Given the description of an element on the screen output the (x, y) to click on. 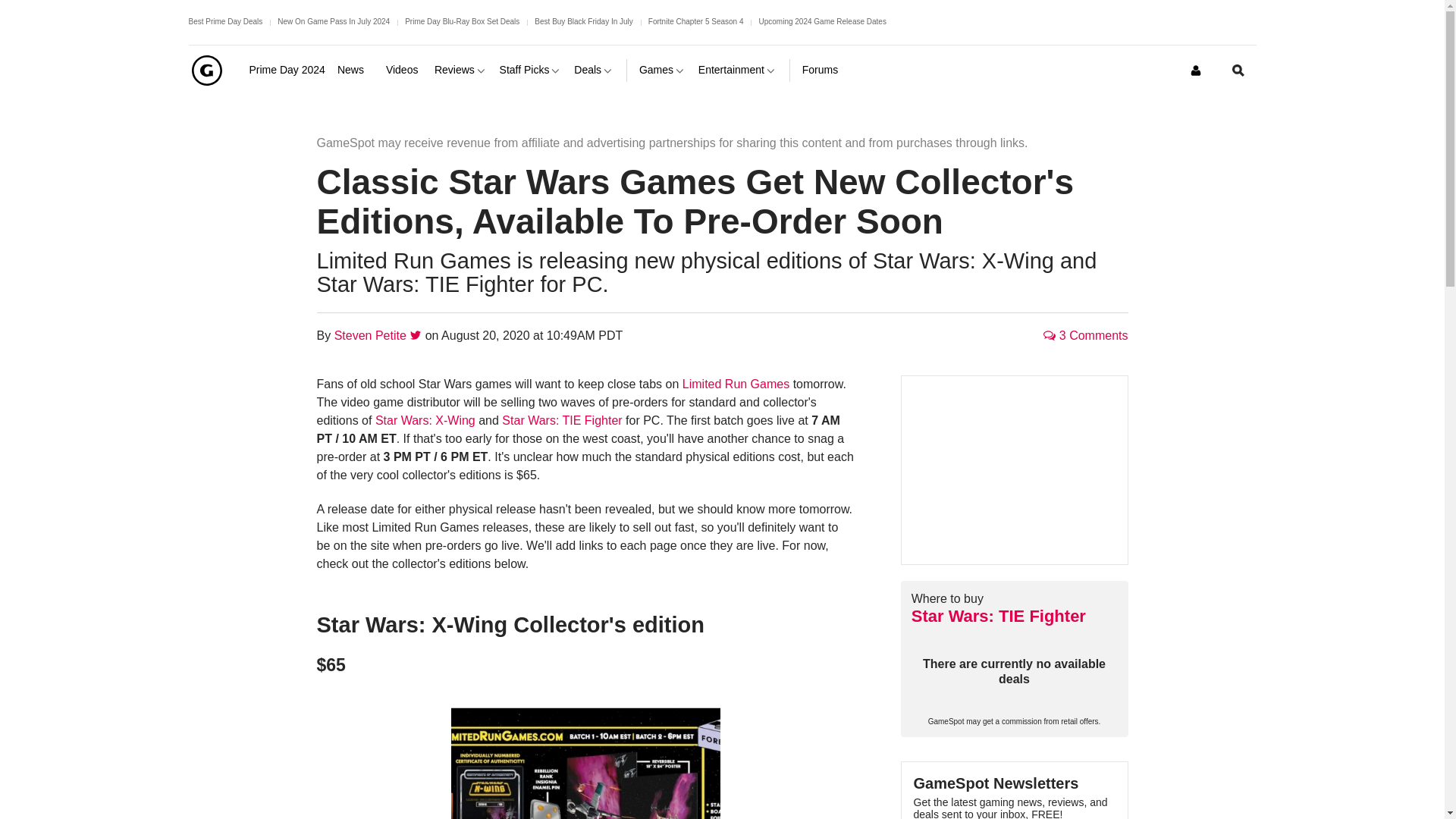
Videos (403, 70)
Fortnite Chapter 5 Season 4 (695, 21)
Games (662, 70)
News (355, 70)
Deals (593, 70)
Staff Picks (530, 70)
Upcoming 2024 Game Release Dates (821, 21)
Reviews (460, 70)
GameSpot (205, 70)
Prime Day 2024 (286, 70)
Prime Day Blu-Ray Box Set Deals (461, 21)
New On Game Pass In July 2024 (334, 21)
Best Prime Day Deals (224, 21)
Best Buy Black Friday In July (583, 21)
